Given the description of an element on the screen output the (x, y) to click on. 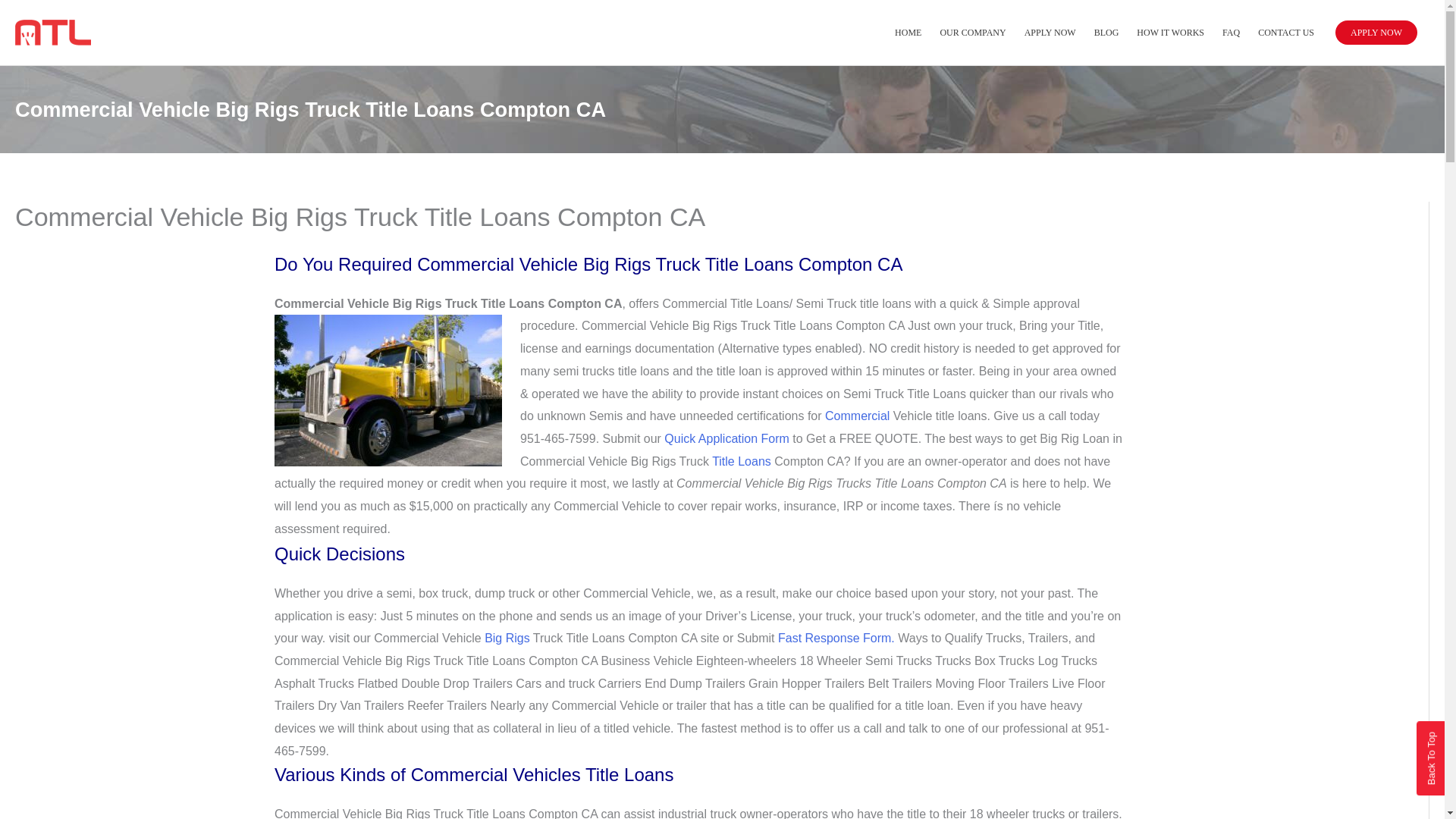
Quick Application Form (726, 438)
Commercial Vehicle Big Rigs Truck Title Loans Compton CA (388, 390)
Title Loans (741, 461)
APPLY NOW (1375, 32)
Big Rigs (508, 637)
Fast Response Form. (836, 637)
OUR COMPANY (972, 32)
Commercial (857, 415)
HOW IT WORKS (1169, 32)
CONTACT US (1286, 32)
APPLY NOW (1049, 32)
HOME (907, 32)
